Given the description of an element on the screen output the (x, y) to click on. 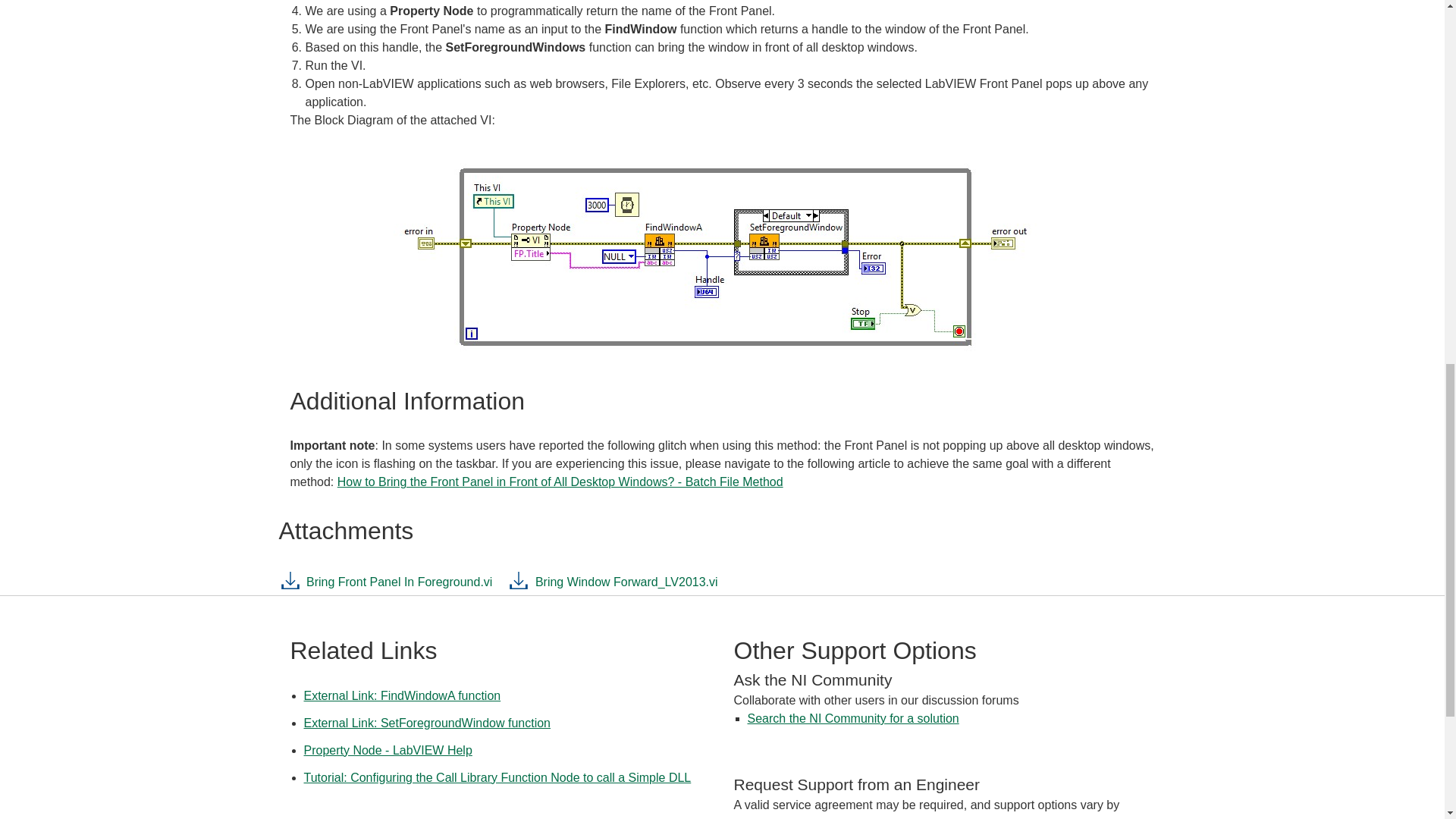
Property Node - LabVIEW Help (386, 749)
External Link: SetForegroundWindow function (426, 722)
External Link: FindWindowA function (401, 695)
Search the NI Community for a solution (853, 717)
Bring Front Panel In Foreground.vi (386, 585)
